Given the description of an element on the screen output the (x, y) to click on. 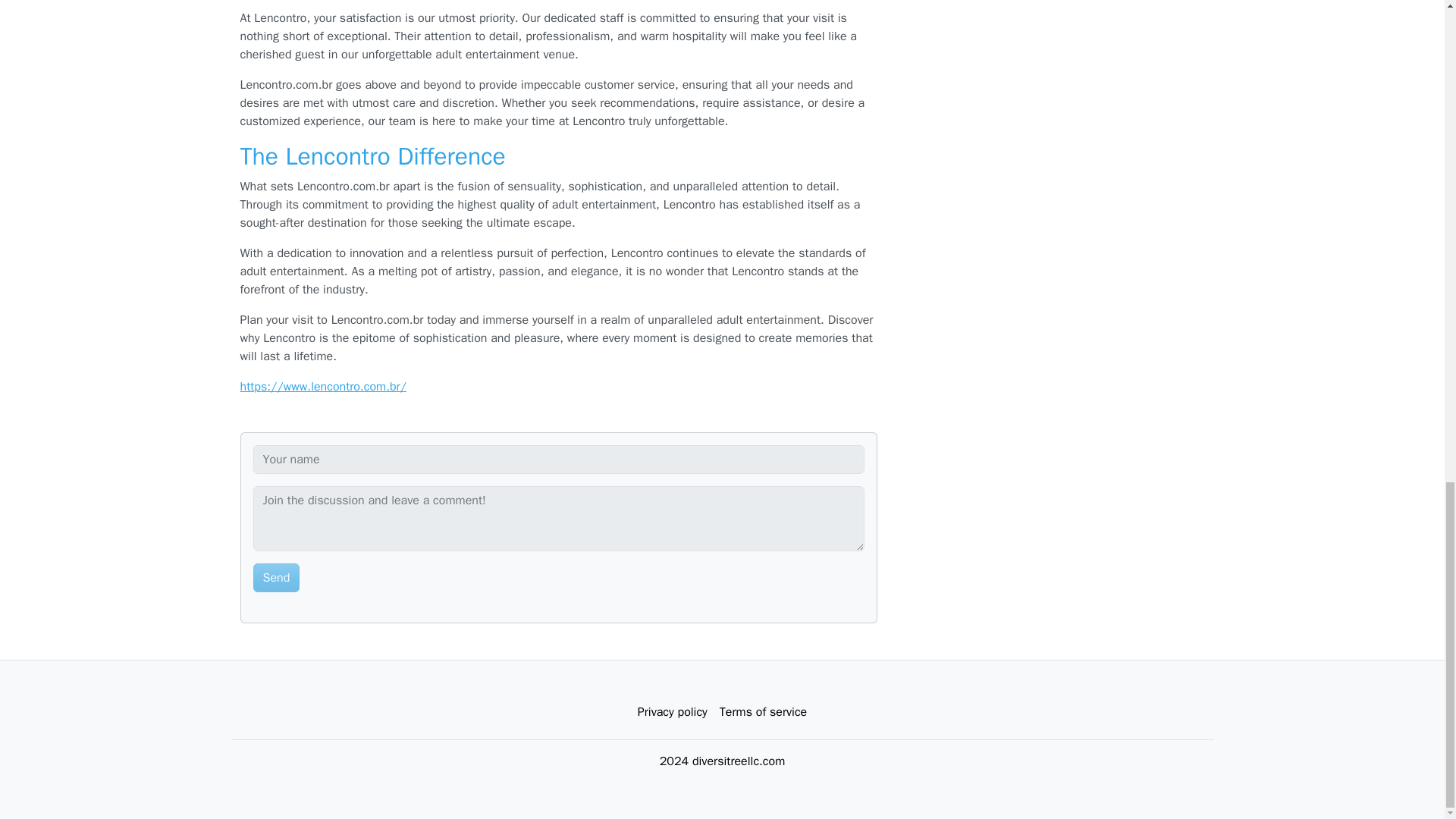
Send (276, 577)
Terms of service (762, 711)
Privacy policy (672, 711)
Send (276, 577)
